Given the description of an element on the screen output the (x, y) to click on. 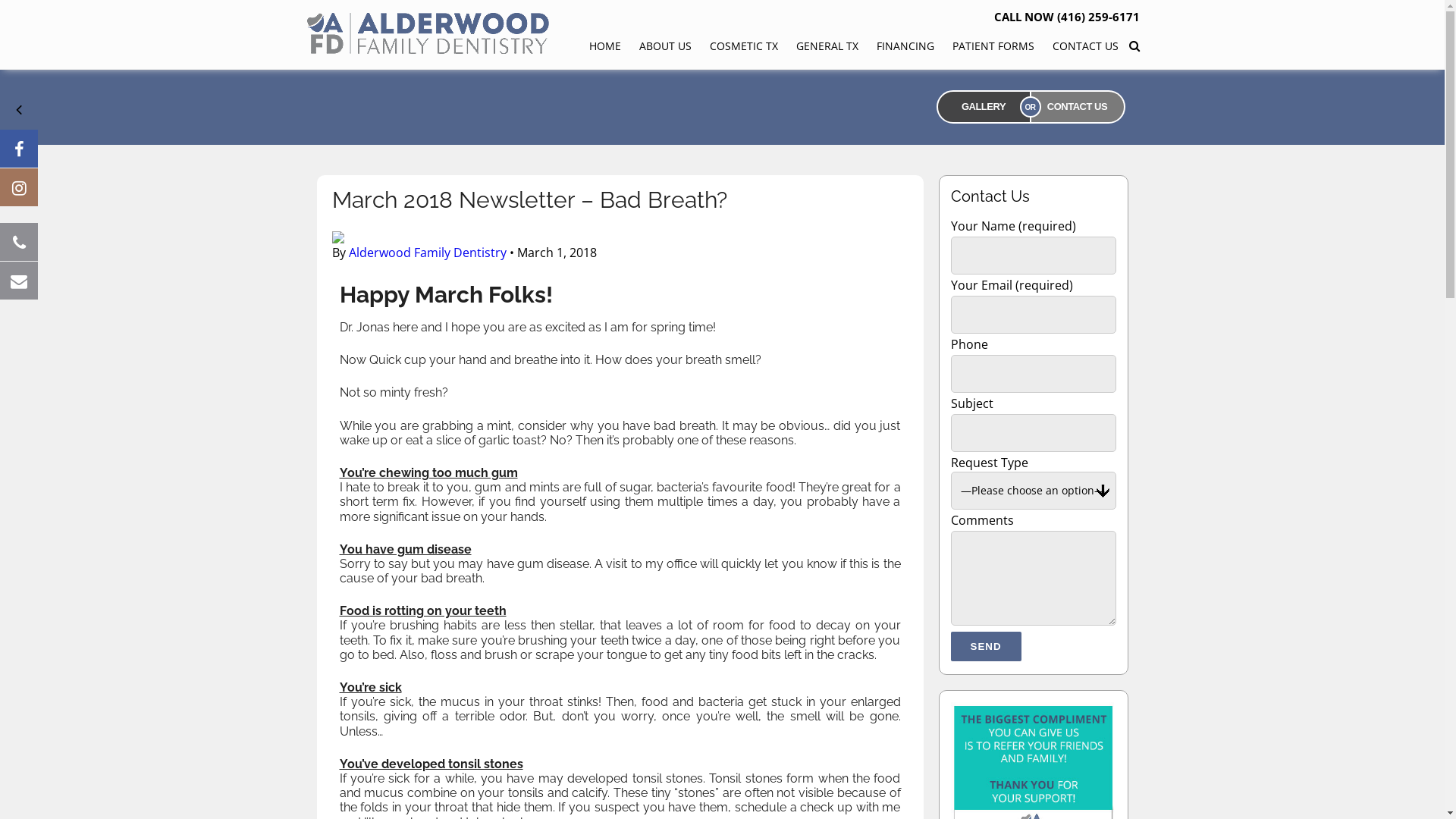
Alderwood Family Dentistry Element type: hover (429, 51)
CONTACT US Element type: text (1076, 106)
HOME Element type: text (603, 46)
ABOUT US Element type: text (664, 46)
CALL NOW (416) 259-6171 Element type: text (1066, 16)
COSMETIC TX Element type: text (743, 46)
Alderwood Family Dentistry Element type: text (427, 252)
CONTACT US Element type: text (1085, 46)
FINANCING Element type: text (905, 46)
Send Element type: text (985, 646)
Call us Element type: hover (18, 241)
GALLERY Element type: text (983, 106)
Send us an email Element type: hover (18, 280)
GENERAL TX Element type: text (827, 46)
PATIENT FORMS Element type: text (992, 46)
